Given the description of an element on the screen output the (x, y) to click on. 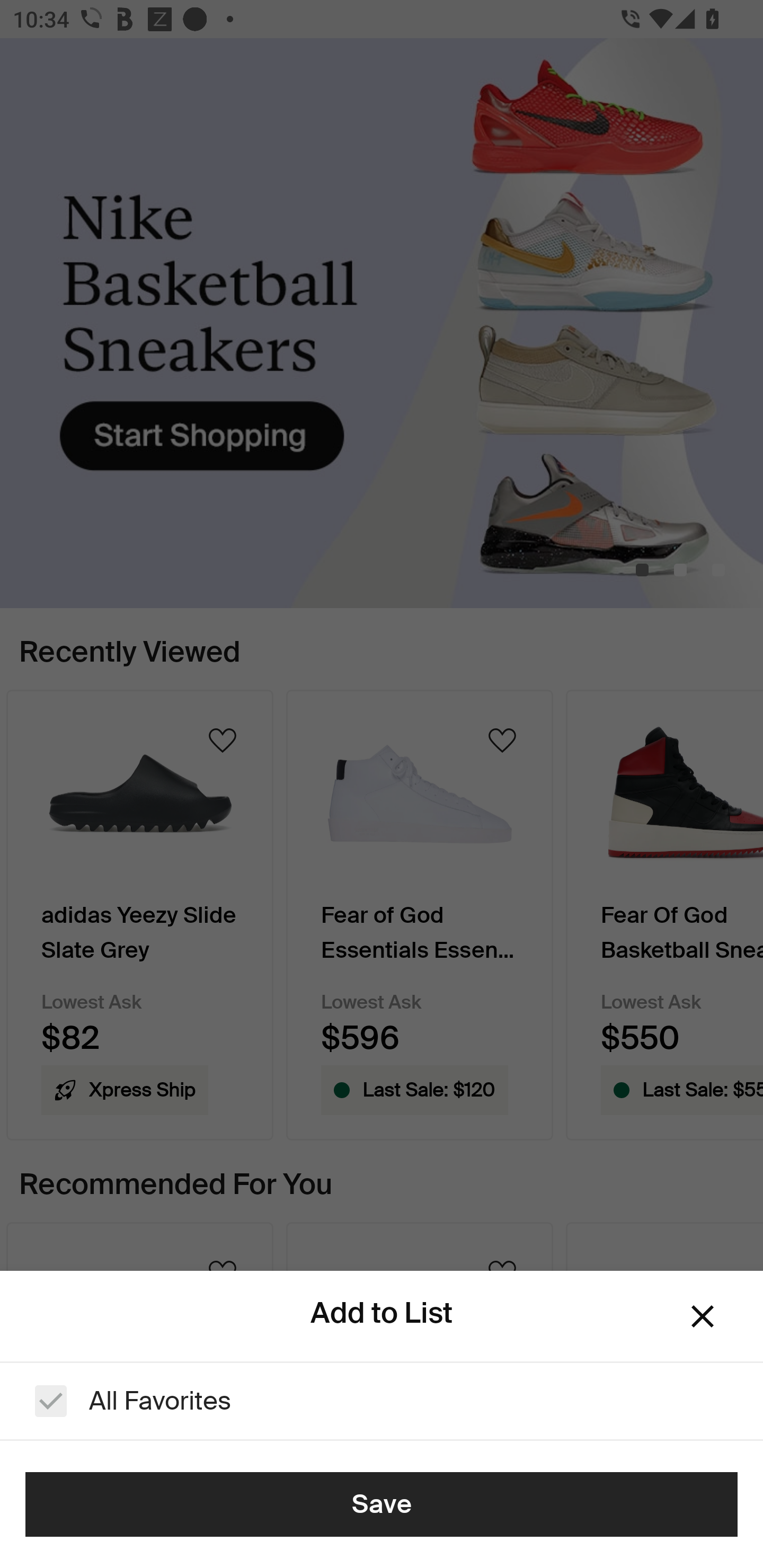
Dismiss (702, 1315)
All Favorites (381, 1400)
Save (381, 1504)
